Given the description of an element on the screen output the (x, y) to click on. 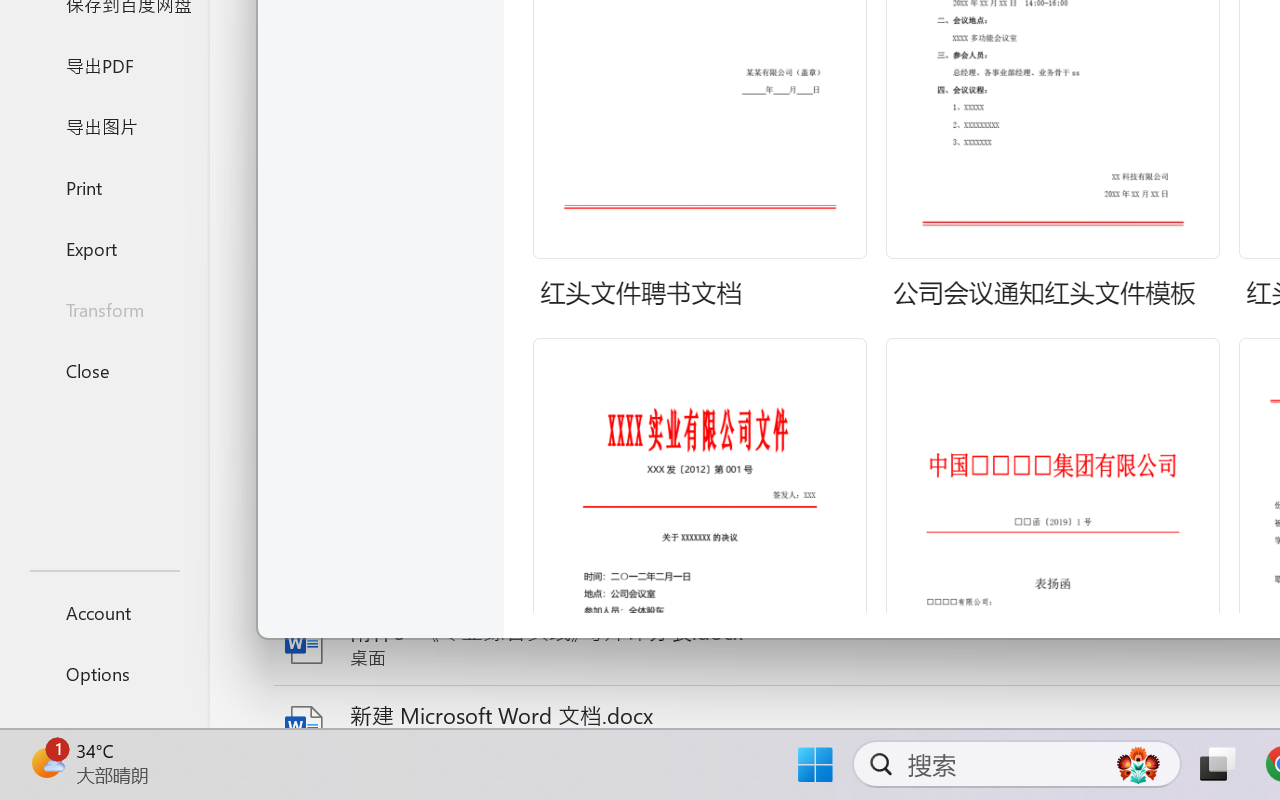
Account (104, 612)
Options (104, 673)
Print (104, 186)
Close (104, 370)
AutomationID: DynamicSearchBoxGleamImage (1138, 764)
Transform (104, 309)
AutomationID: BadgeAnchorLargeTicker (46, 762)
Export (104, 248)
